Given the description of an element on the screen output the (x, y) to click on. 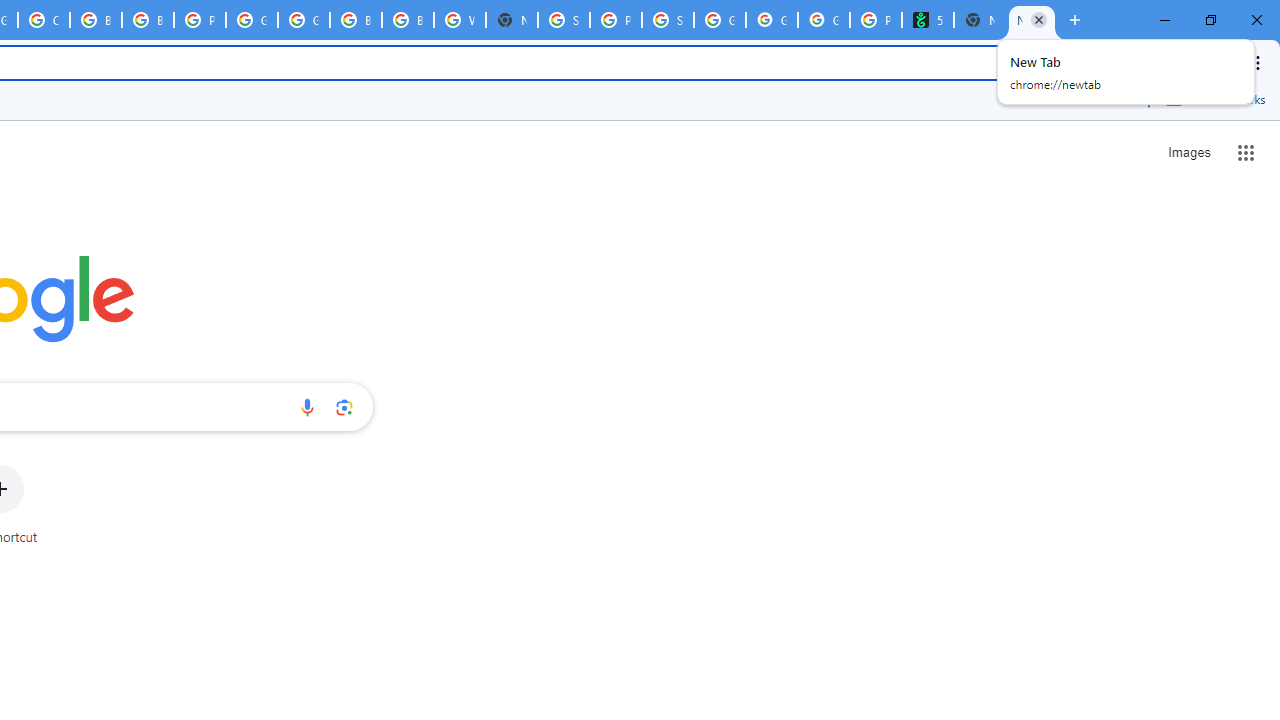
Browse Chrome as a guest - Computer - Google Chrome Help (147, 20)
Control your music, videos, and more (1185, 62)
Chrome (1260, 62)
Search by image (344, 407)
Restore (1210, 20)
Bookmark this tab (1135, 62)
New Tab (1032, 20)
Search for Images  (1188, 152)
Browse Chrome as a guest - Computer - Google Chrome Help (407, 20)
